Given the description of an element on the screen output the (x, y) to click on. 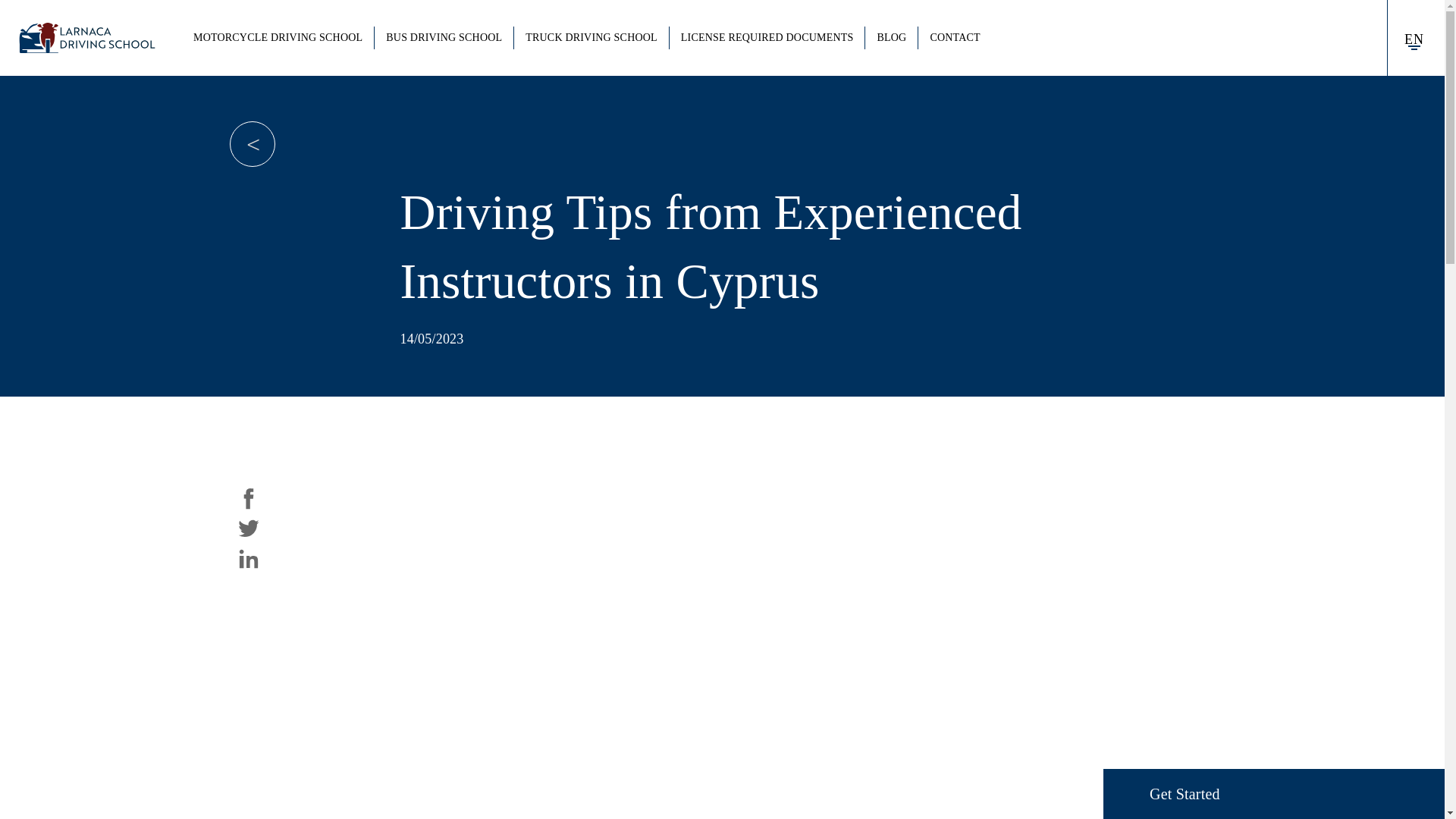
BLOG (890, 37)
LICENSE REQUIRED DOCUMENTS (766, 37)
EN (1414, 37)
CONTACT (954, 37)
TRUCK DRIVING SCHOOL (590, 37)
MOTORCYCLE DRIVING SCHOOL (278, 37)
BUS DRIVING SCHOOL (443, 37)
Larnaca Driving School (87, 37)
